Given the description of an element on the screen output the (x, y) to click on. 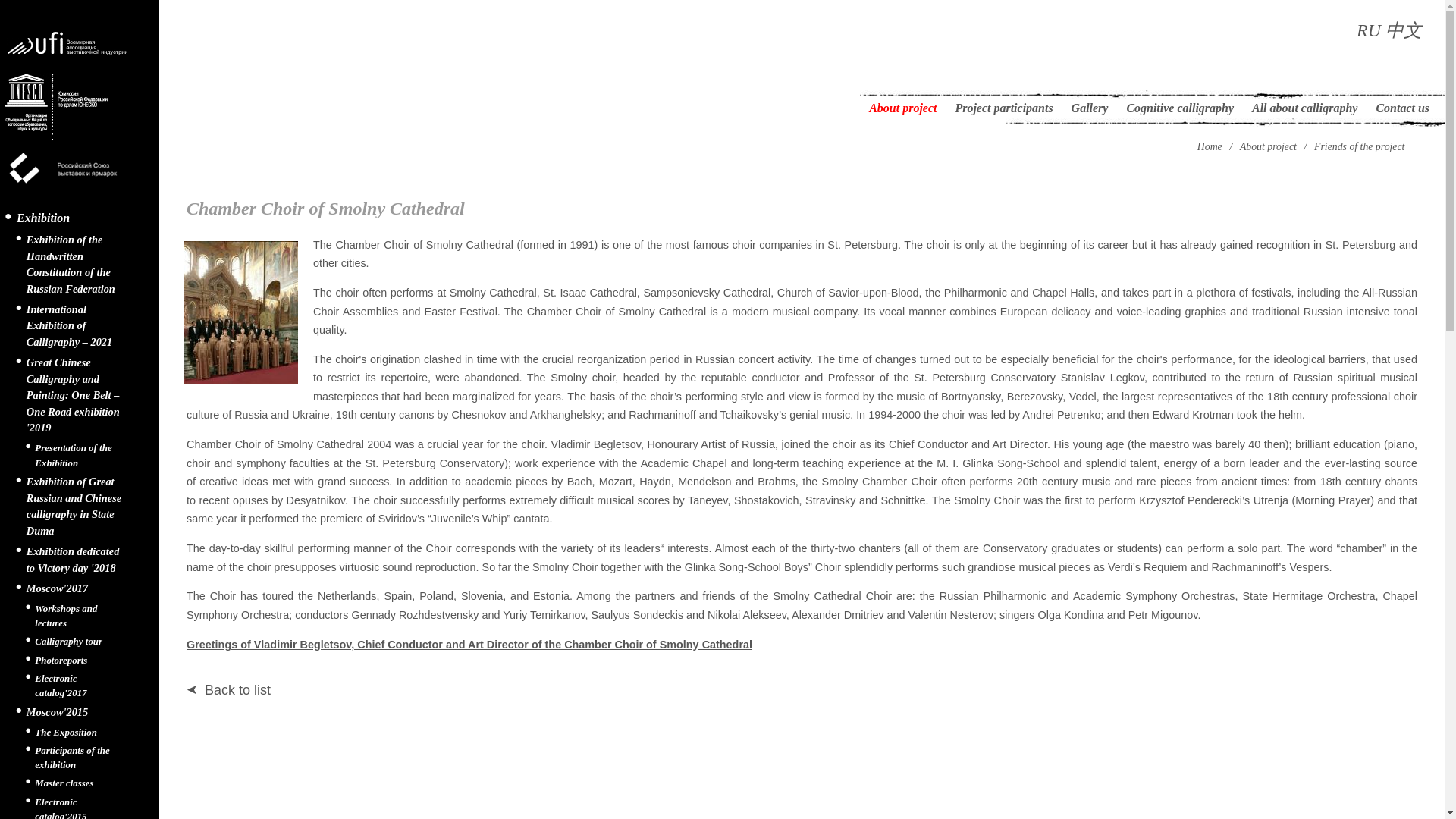
About project (902, 107)
Cognitive calligraphy (1179, 107)
Gallery (1090, 107)
RU (1368, 30)
Project participants (1002, 107)
